Given the description of an element on the screen output the (x, y) to click on. 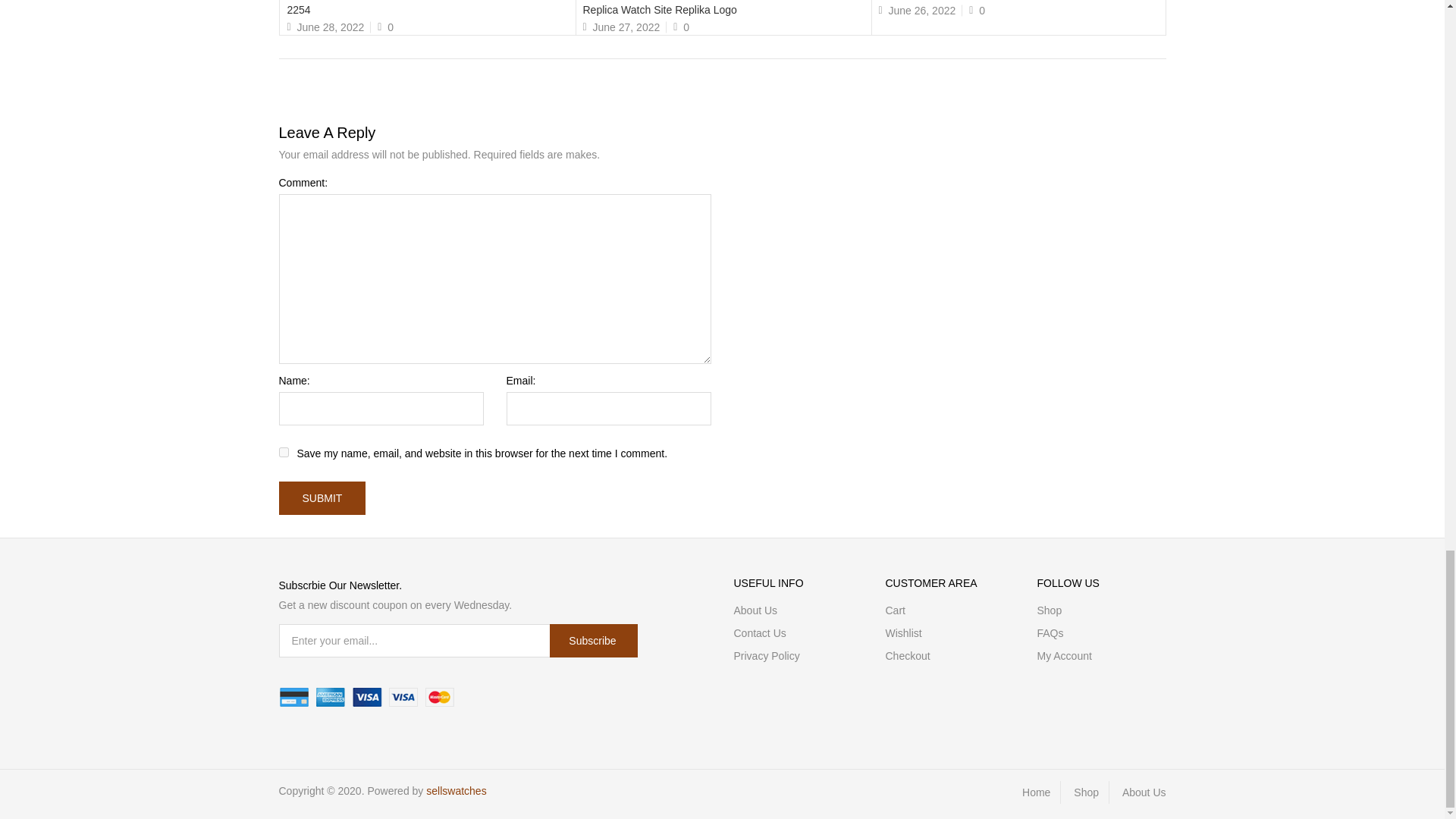
yes (283, 452)
subscribe (593, 640)
payments (366, 696)
submit (322, 498)
